Given the description of an element on the screen output the (x, y) to click on. 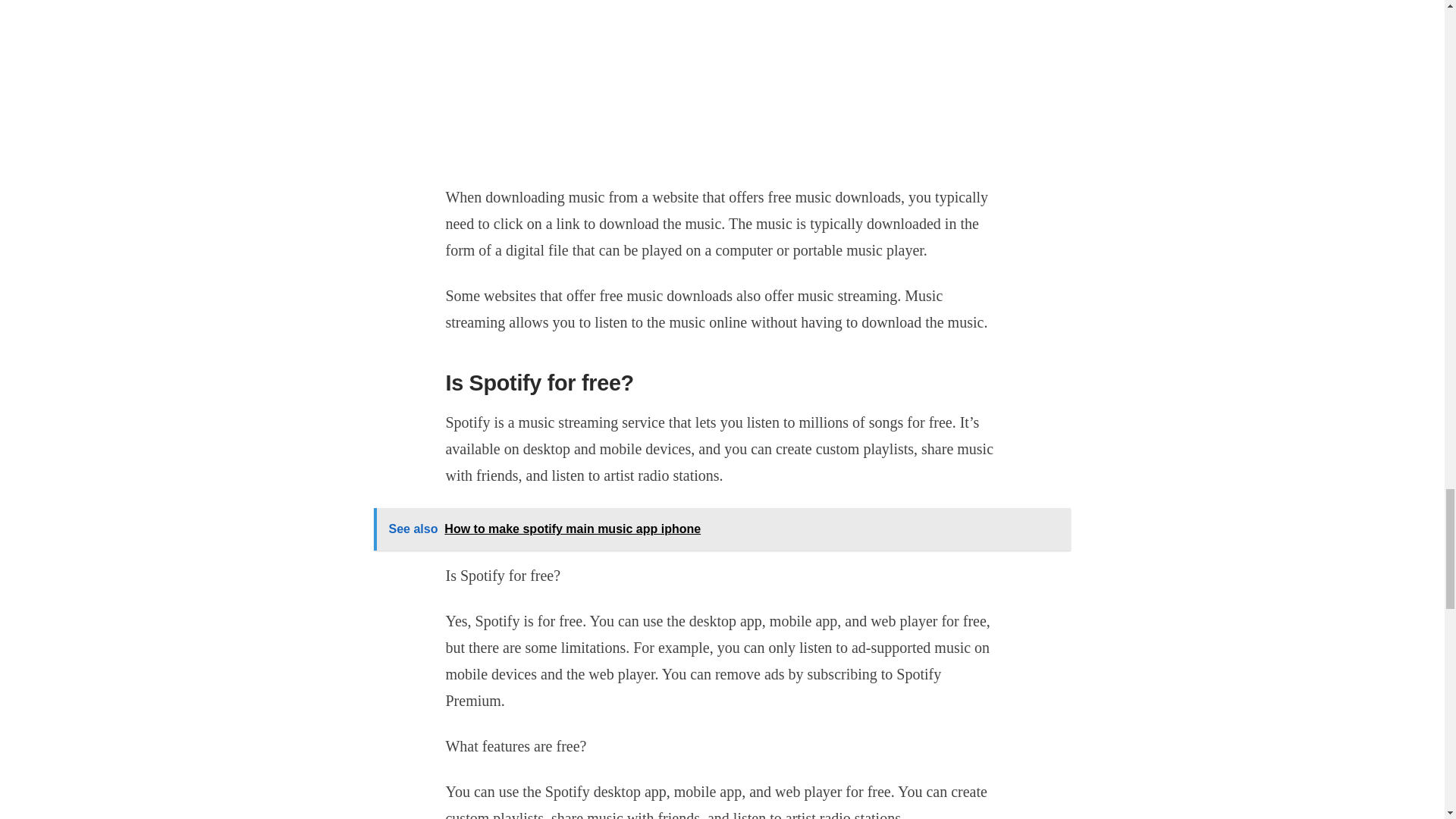
See also  How to make spotify main music app iphone (721, 528)
